Given the description of an element on the screen output the (x, y) to click on. 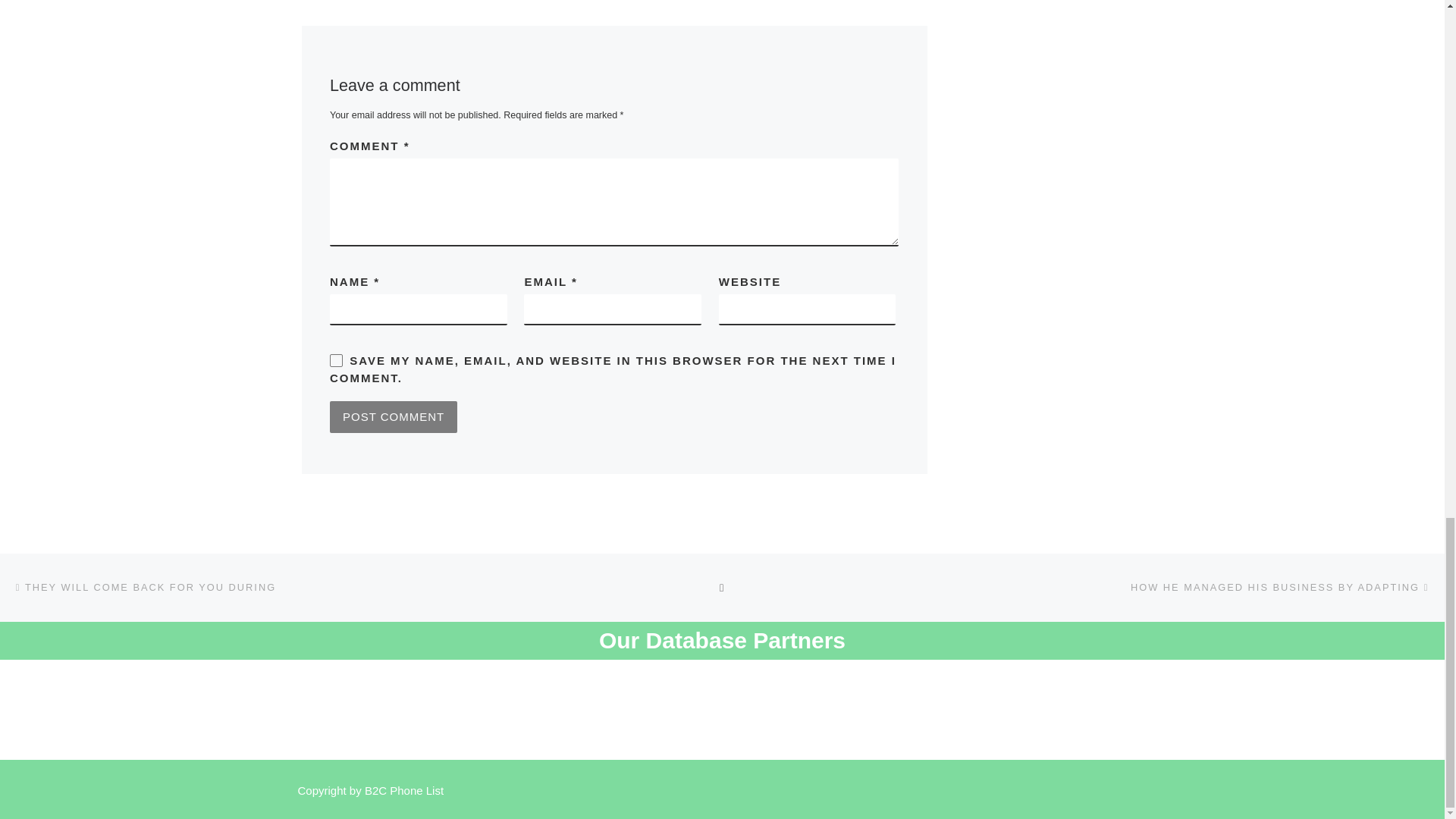
Post Comment (393, 417)
yes (336, 359)
